Given the description of an element on the screen output the (x, y) to click on. 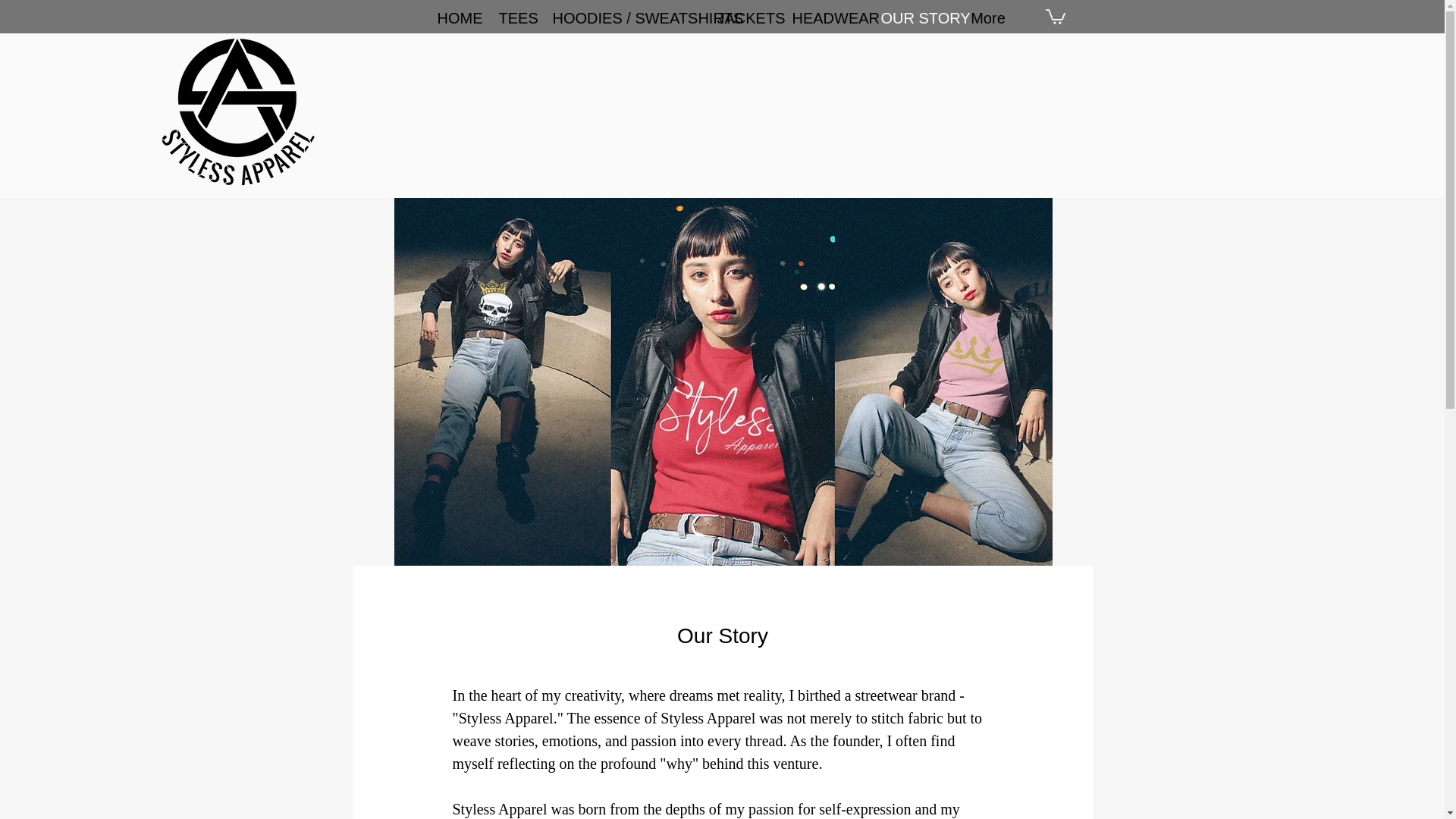
HEADWEAR (824, 17)
TEES (513, 17)
JACKETS (742, 17)
HOME (456, 17)
OUR STORY (913, 17)
